Given the description of an element on the screen output the (x, y) to click on. 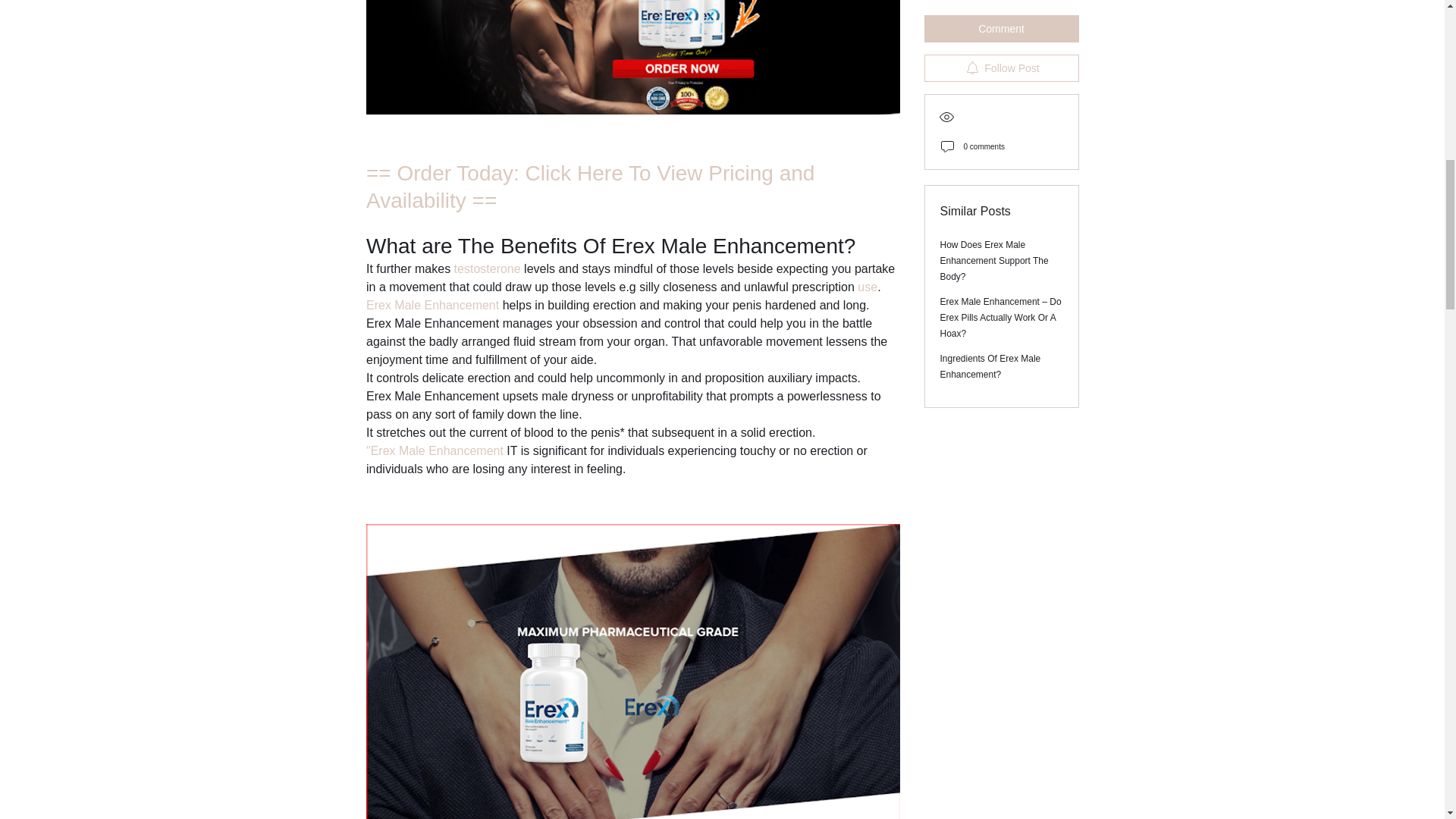
Erex Male Enhancement (431, 305)
use (867, 286)
"Erex Male Enhancement (433, 450)
testosterone  (488, 268)
